Given the description of an element on the screen output the (x, y) to click on. 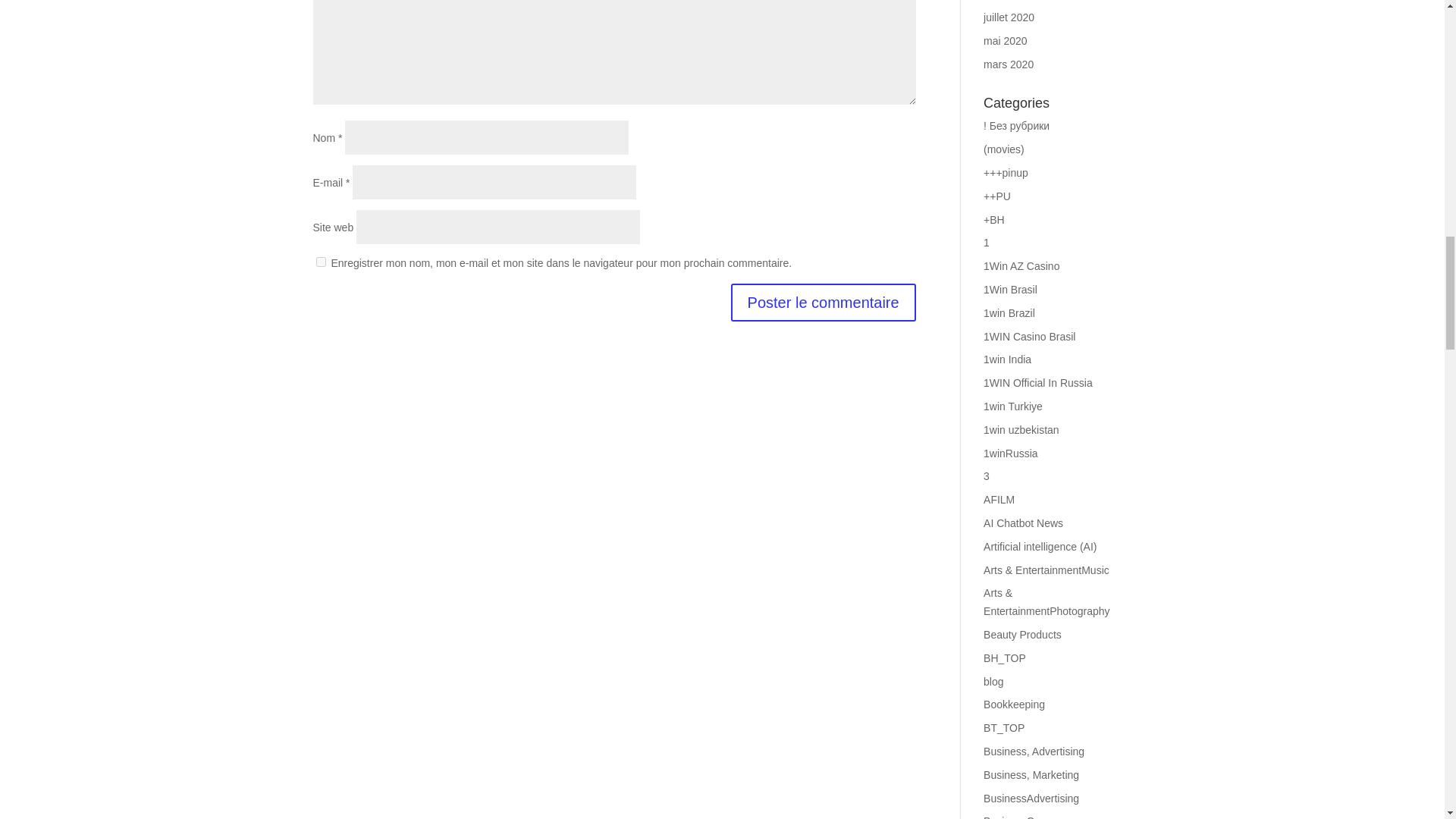
Poster le commentaire (822, 302)
Beauty Products (1022, 634)
Business, Marketing (1031, 775)
AFILM (999, 499)
yes (319, 261)
BusinessAdvertising (1031, 798)
Business, Advertising (1034, 751)
BusinessCareers (1024, 816)
